Given the description of an element on the screen output the (x, y) to click on. 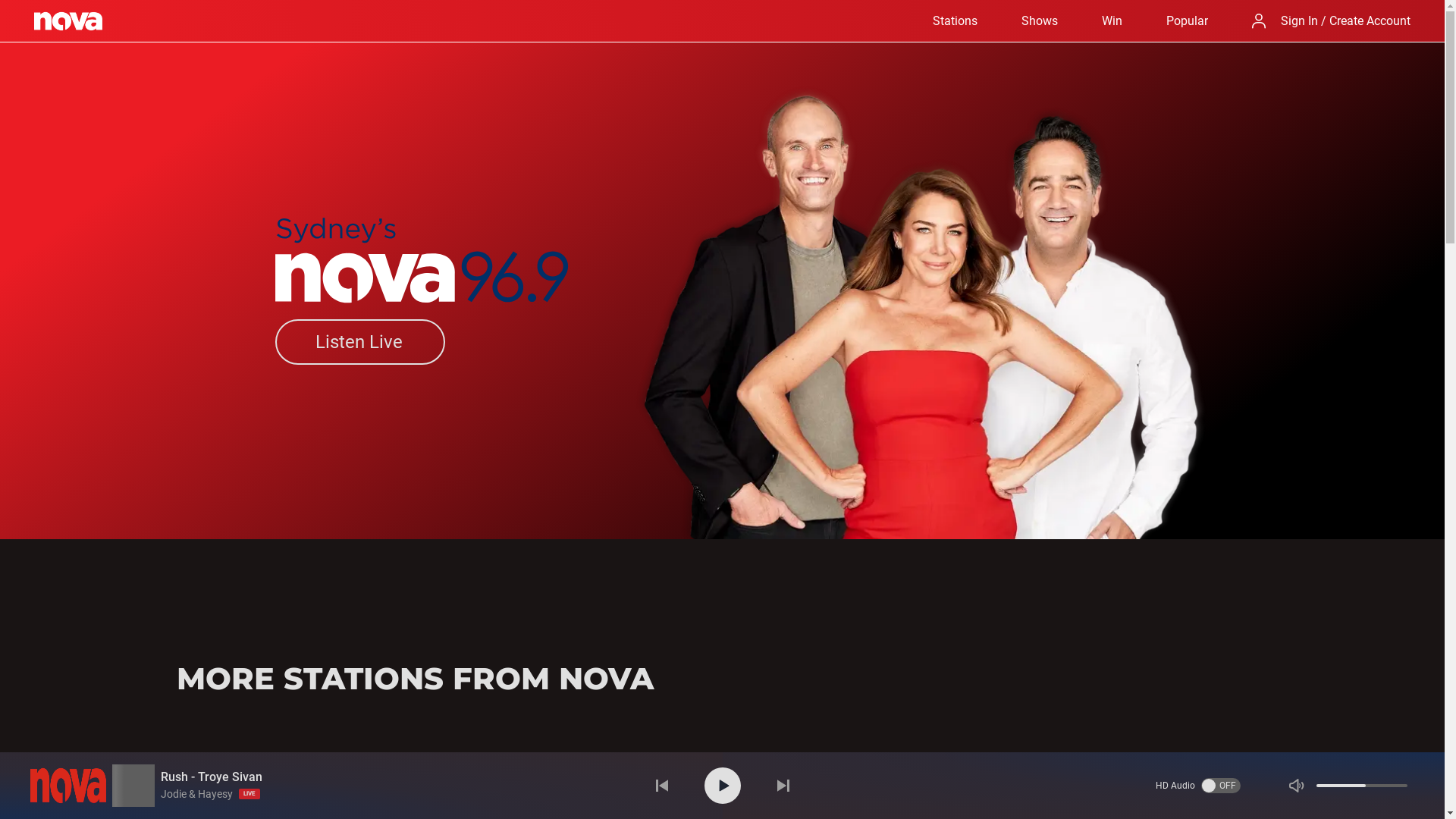
Listen Live Element type: text (359, 341)
